Given the description of an element on the screen output the (x, y) to click on. 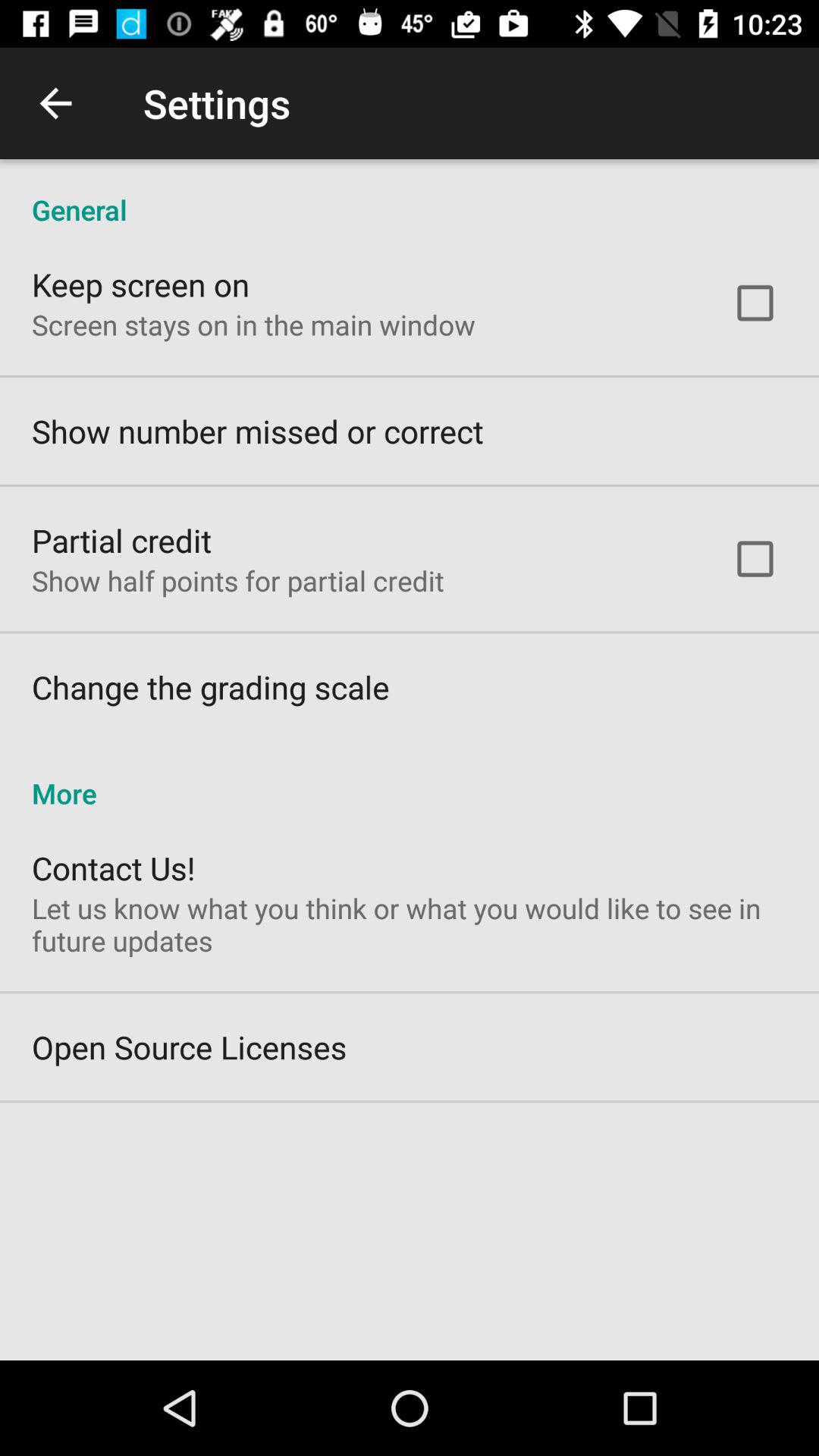
scroll until the change the grading icon (210, 686)
